Given the description of an element on the screen output the (x, y) to click on. 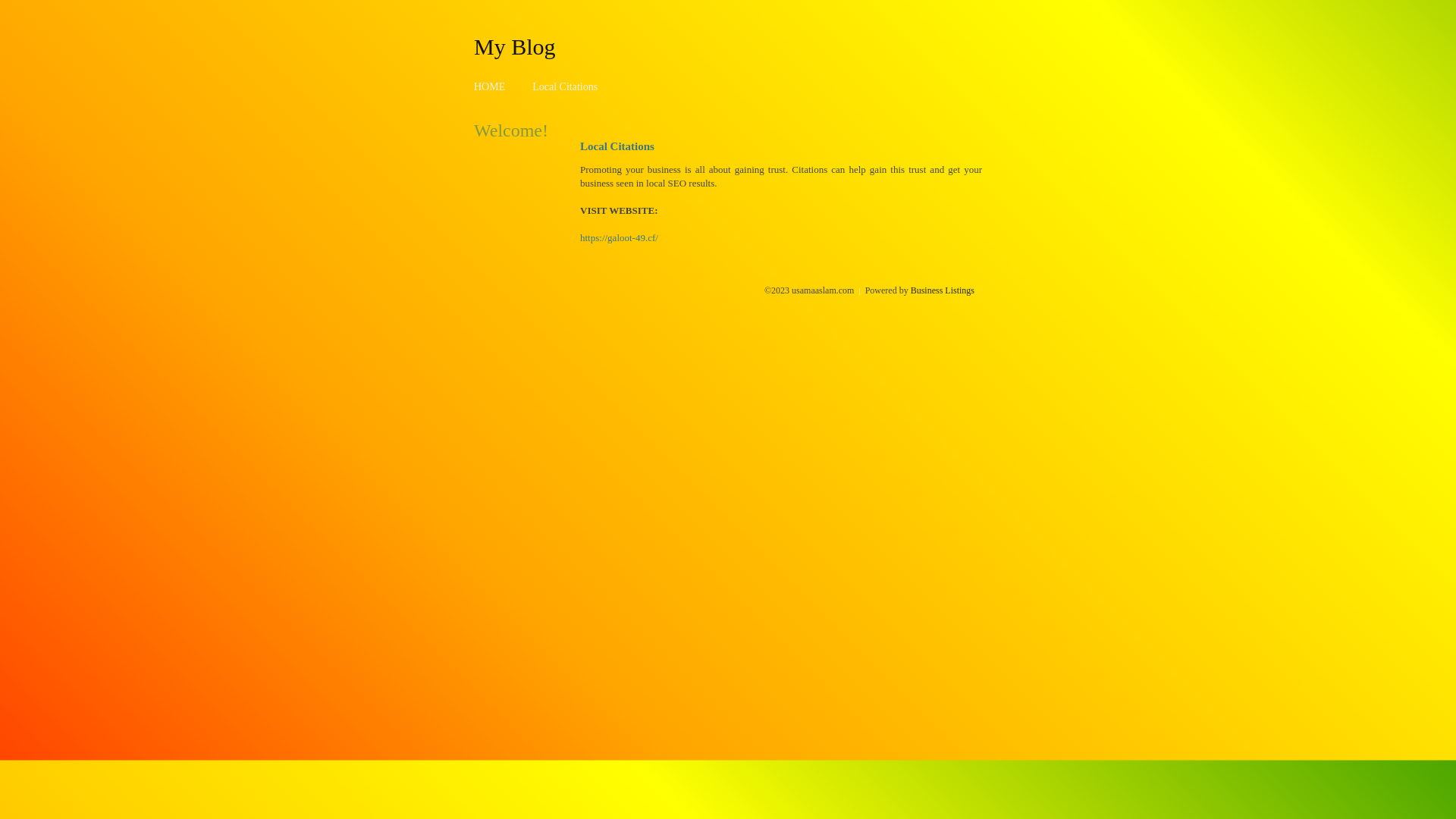
Business Listings Element type: text (942, 290)
HOME Element type: text (489, 86)
My Blog Element type: text (514, 46)
Local Citations Element type: text (564, 86)
https://galoot-49.cf/ Element type: text (619, 237)
